Given the description of an element on the screen output the (x, y) to click on. 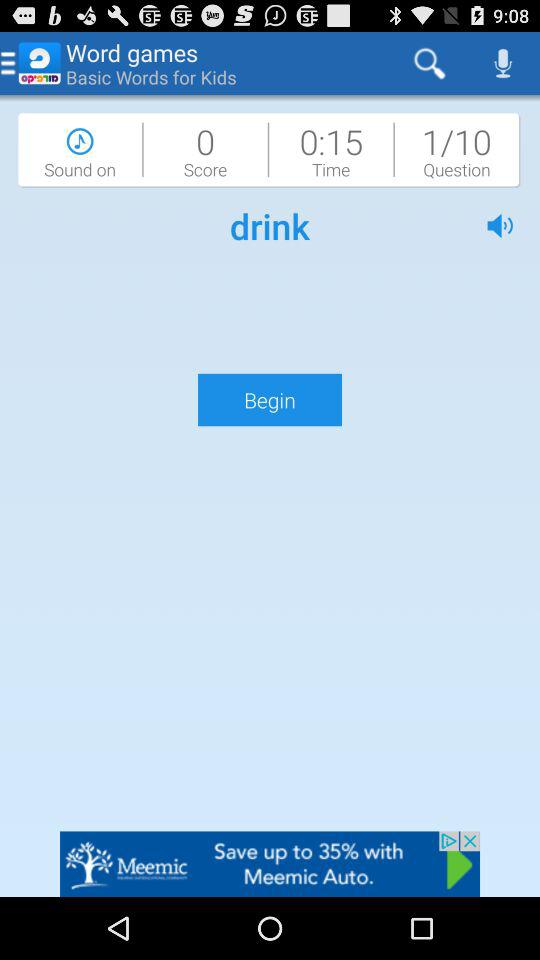
advertisement (270, 864)
